Given the description of an element on the screen output the (x, y) to click on. 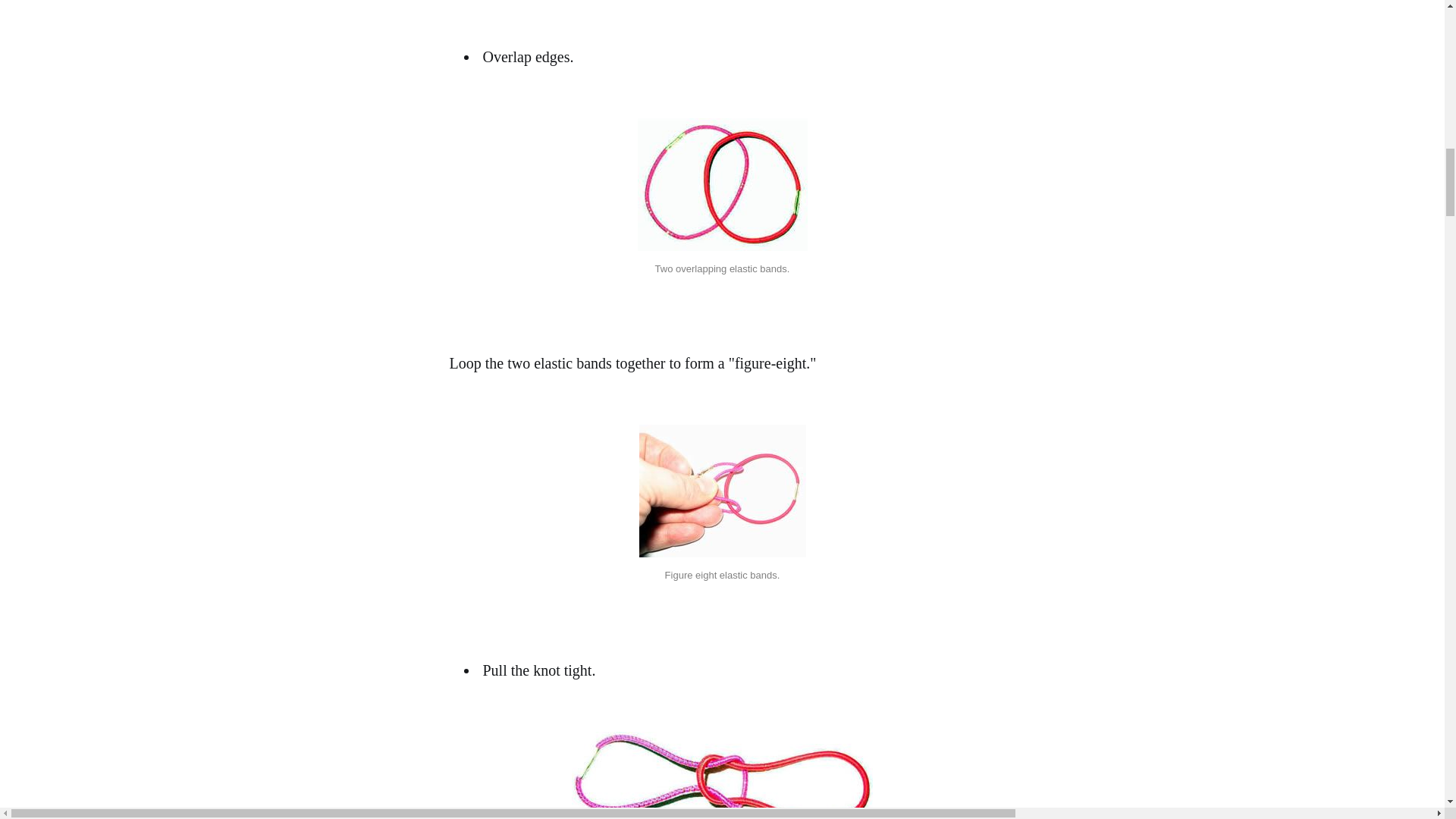
elastic bands (721, 183)
tie a knot with hair bands (722, 491)
hands free pumping (722, 775)
